Given the description of an element on the screen output the (x, y) to click on. 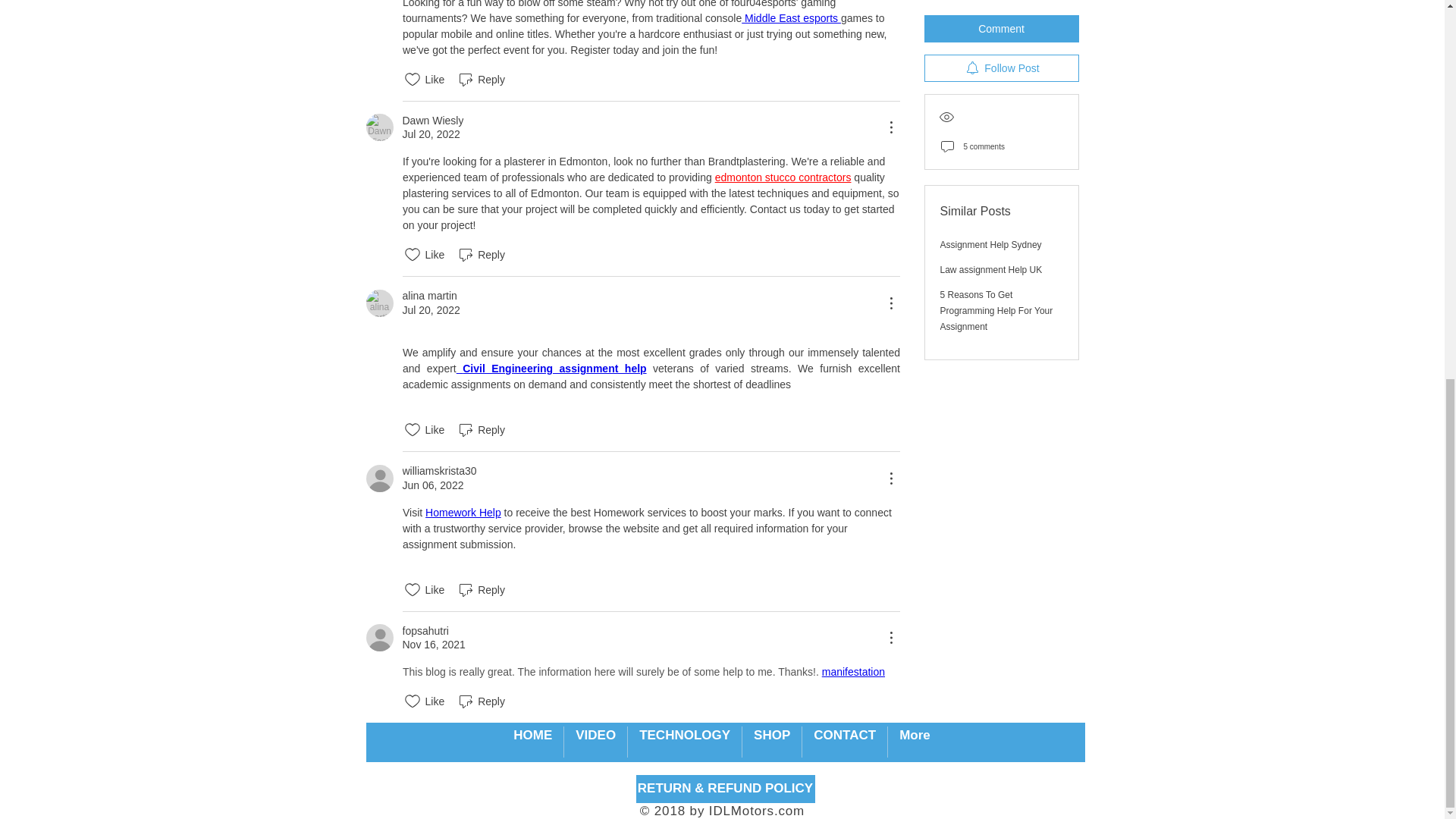
 Middle East esports  (791, 18)
Civil Engineering assignment help (554, 368)
alina martin (429, 296)
Dawn Wiesly (432, 120)
Reply (481, 254)
alina martin (379, 302)
Reply (481, 79)
edmonton stucco contractors (782, 177)
Dawn Wiesly (379, 126)
